Given the description of an element on the screen output the (x, y) to click on. 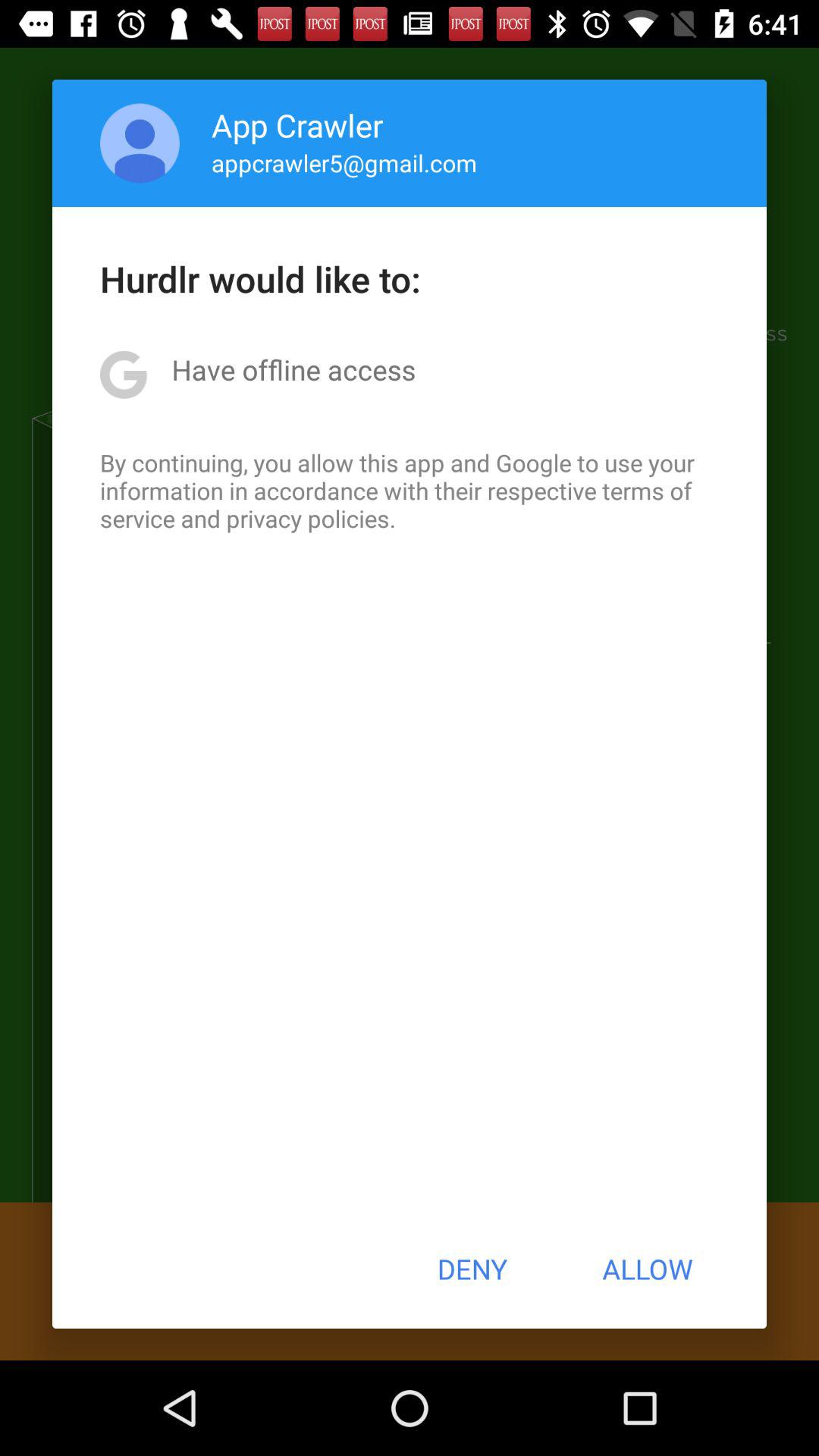
turn off icon below the app crawler (344, 162)
